Given the description of an element on the screen output the (x, y) to click on. 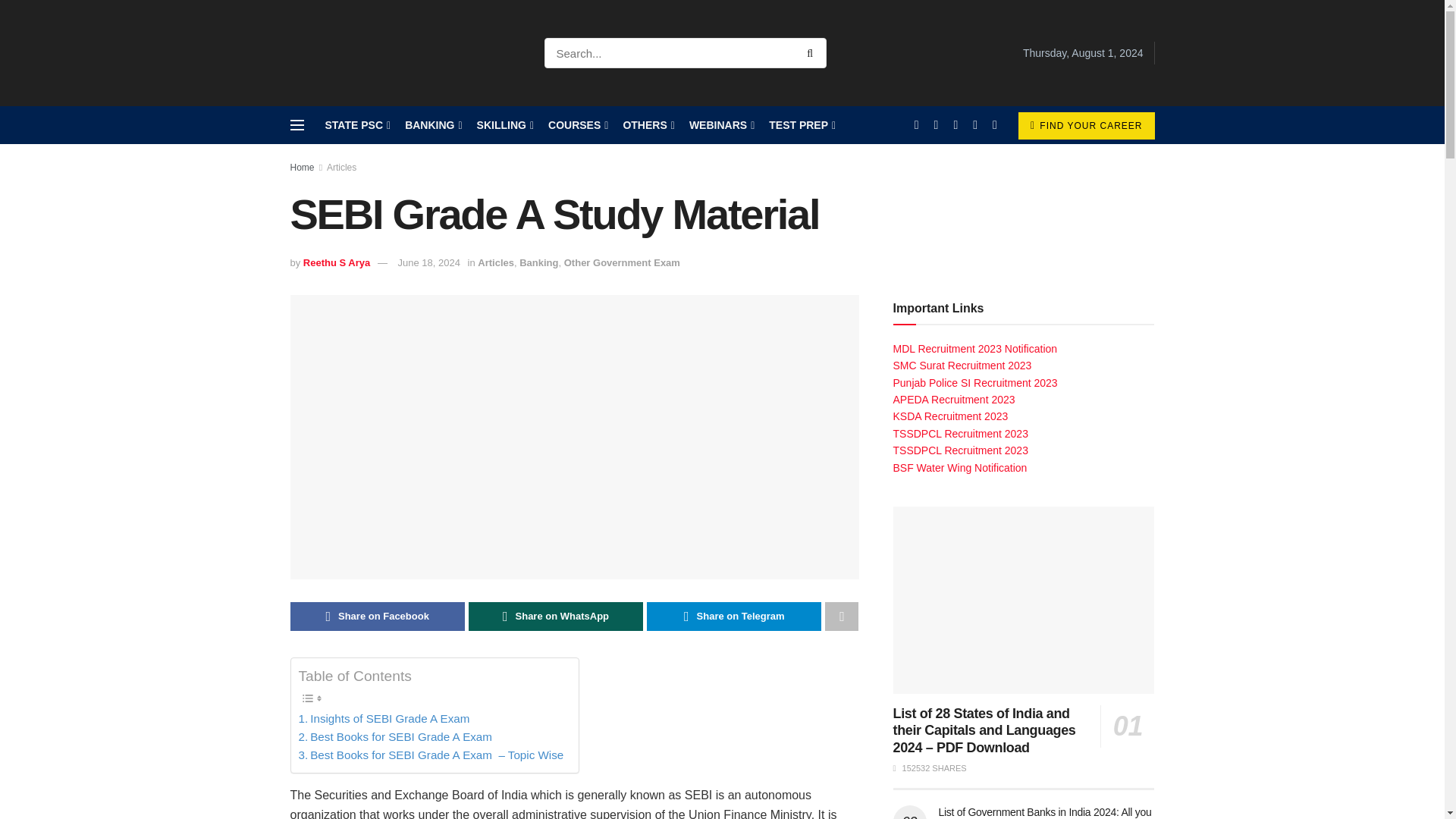
STATE PSC (356, 125)
BANKING (432, 125)
